Given the description of an element on the screen output the (x, y) to click on. 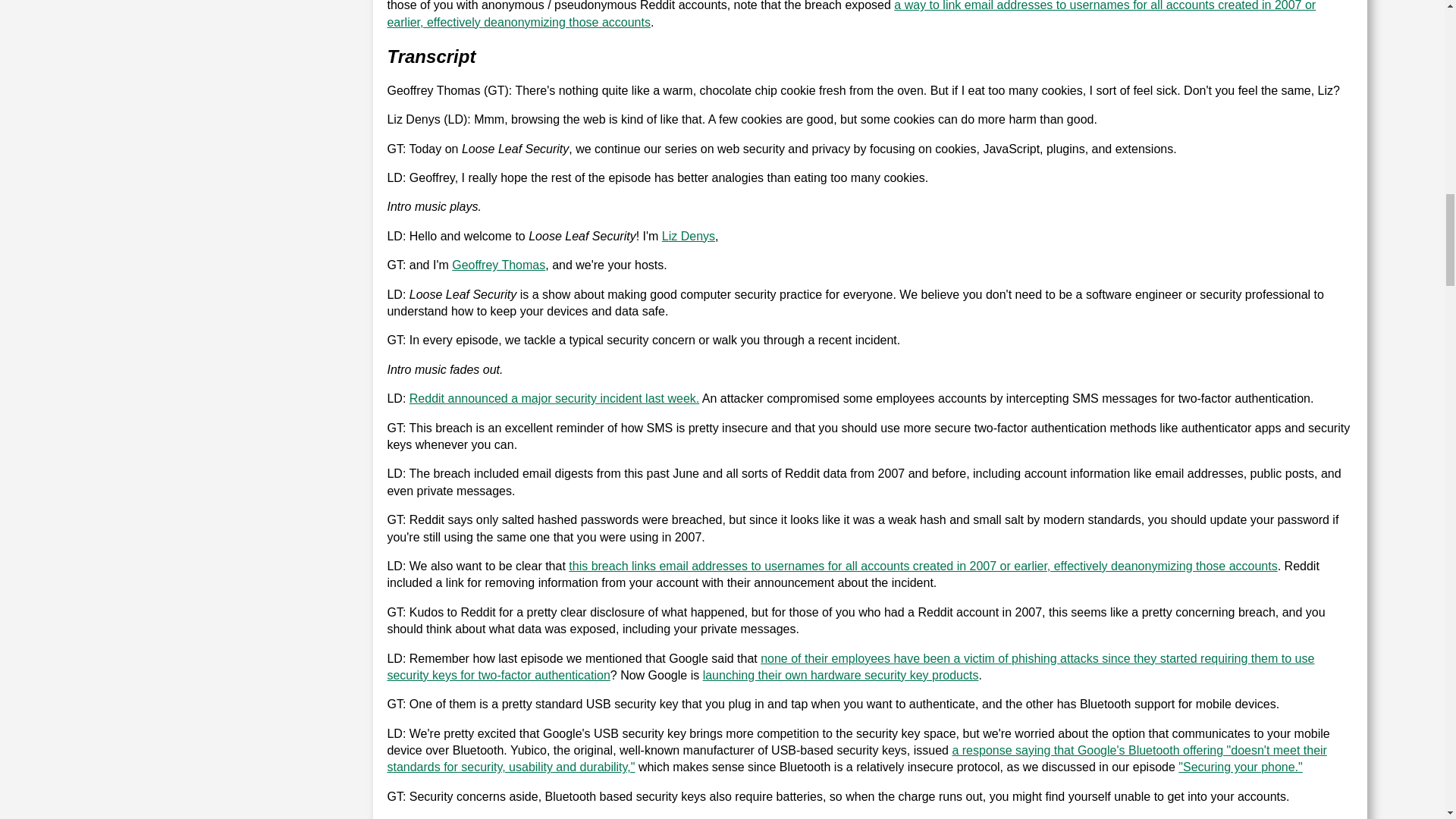
Reddit announced a major security incident last week. (553, 398)
Geoffrey Thomas (497, 264)
Liz Denys (688, 236)
